Given the description of an element on the screen output the (x, y) to click on. 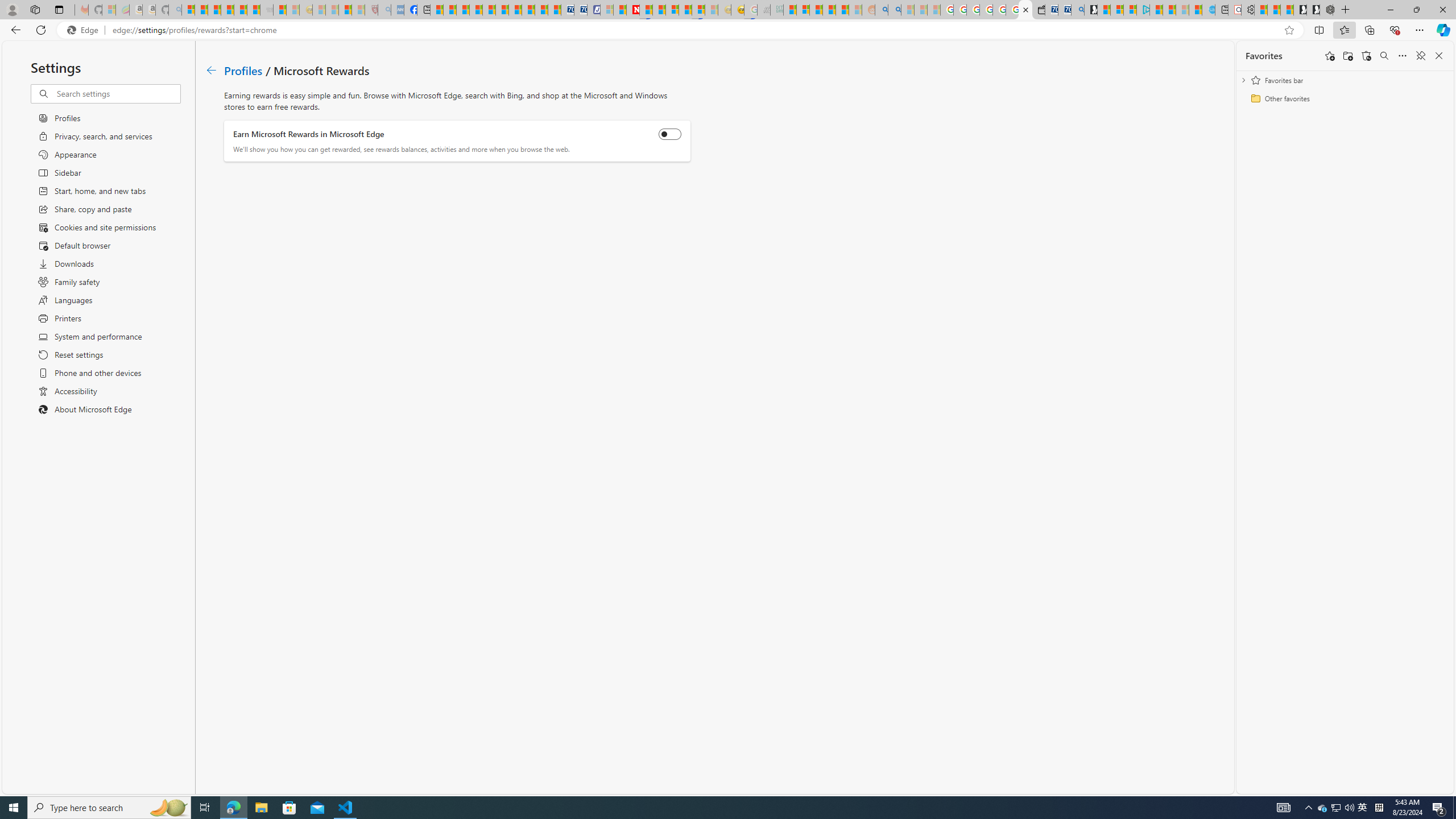
Climate Damage Becomes Too Severe To Reverse (475, 9)
14 Common Myths Debunked By Scientific Facts (659, 9)
DITOGAMES AG Imprint - Sleeping (776, 9)
Close favorites (1439, 55)
Add folder (1347, 55)
Cheap Car Rentals - Save70.com (1063, 9)
Add this page to favorites (1330, 55)
